Given the description of an element on the screen output the (x, y) to click on. 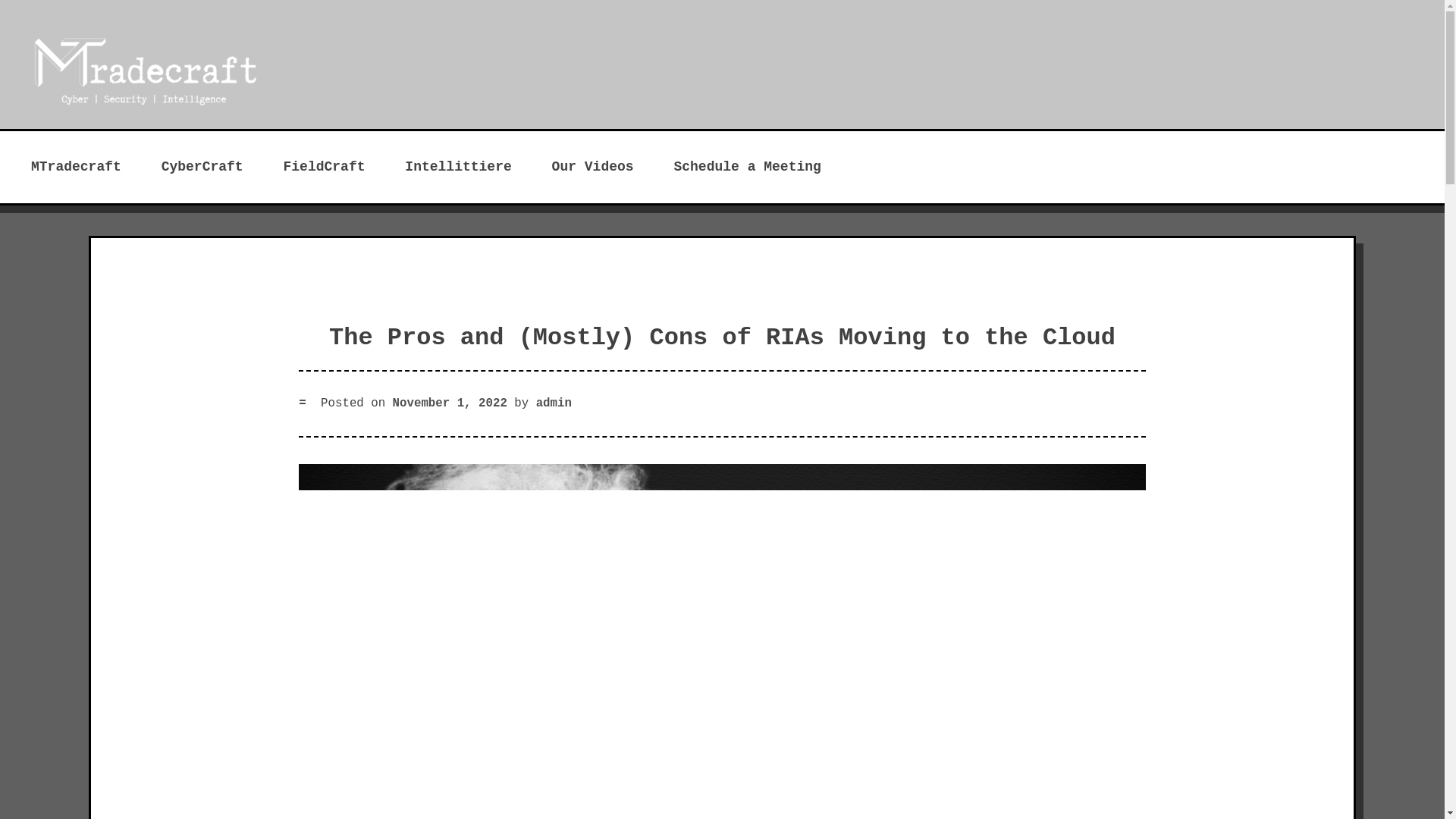
CyberCraft (202, 167)
Schedule a Meeting (746, 167)
Our Videos (592, 167)
FieldCraft (323, 167)
November 1, 2022 (449, 403)
MTradecraft (75, 167)
MTradecraft (219, 151)
admin (553, 403)
Intellittiere (457, 167)
